Given the description of an element on the screen output the (x, y) to click on. 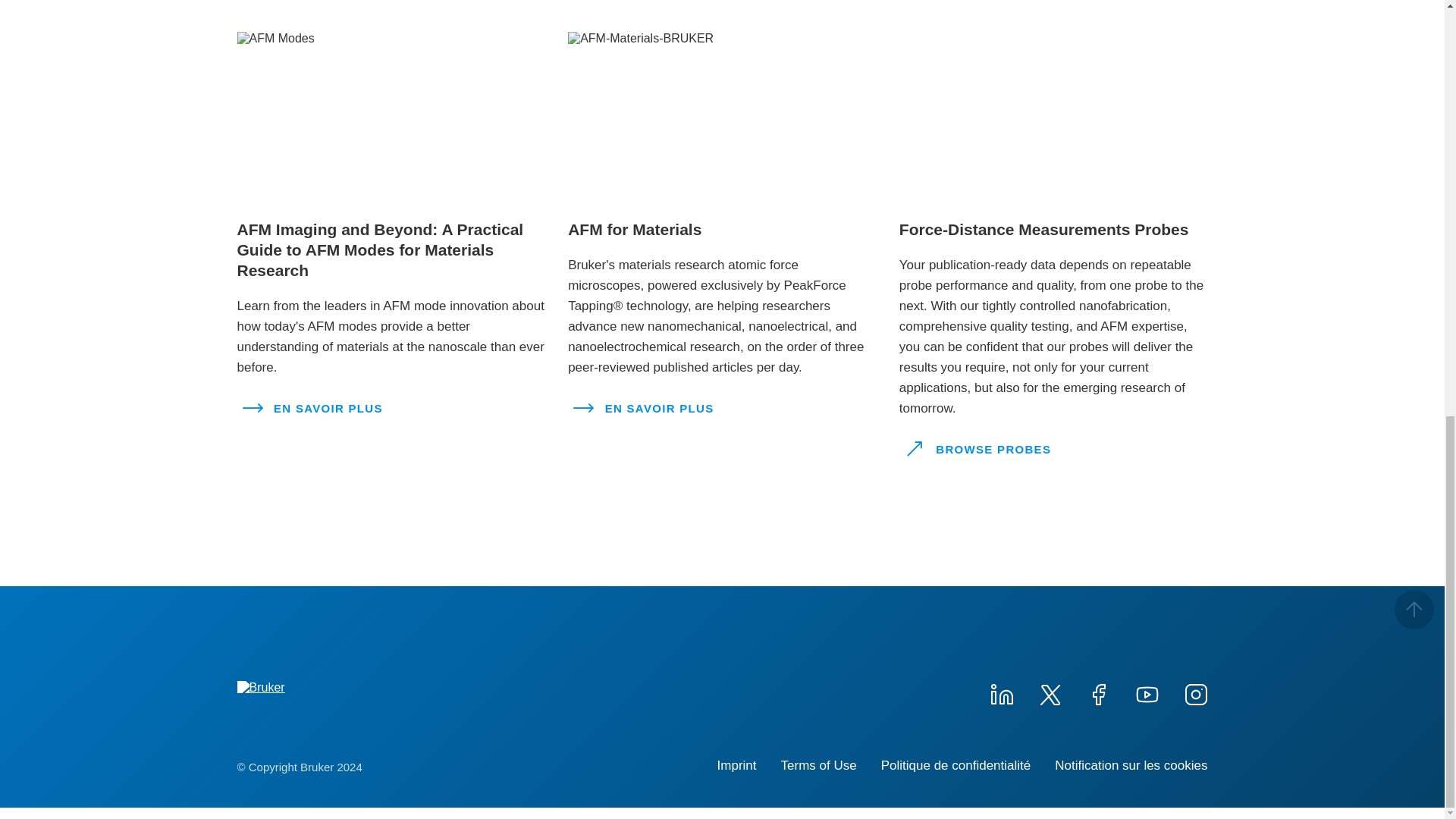
facebook (1097, 692)
Terms of Use (818, 765)
youtube (1146, 692)
linkedin (1000, 692)
twitter (1048, 692)
instagram (1194, 692)
Imprint (737, 765)
